Given the description of an element on the screen output the (x, y) to click on. 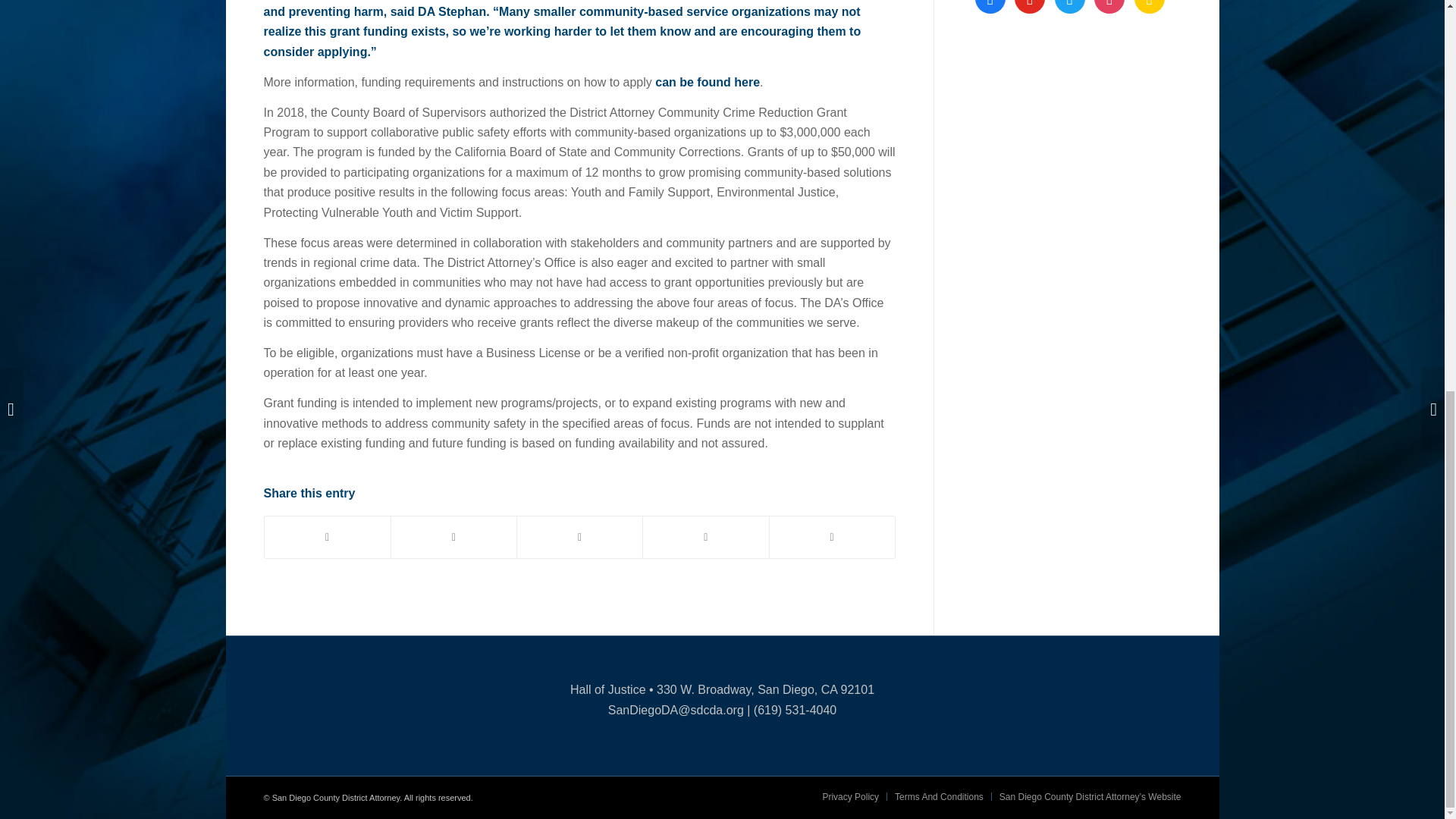
can be found here (707, 82)
